Given the description of an element on the screen output the (x, y) to click on. 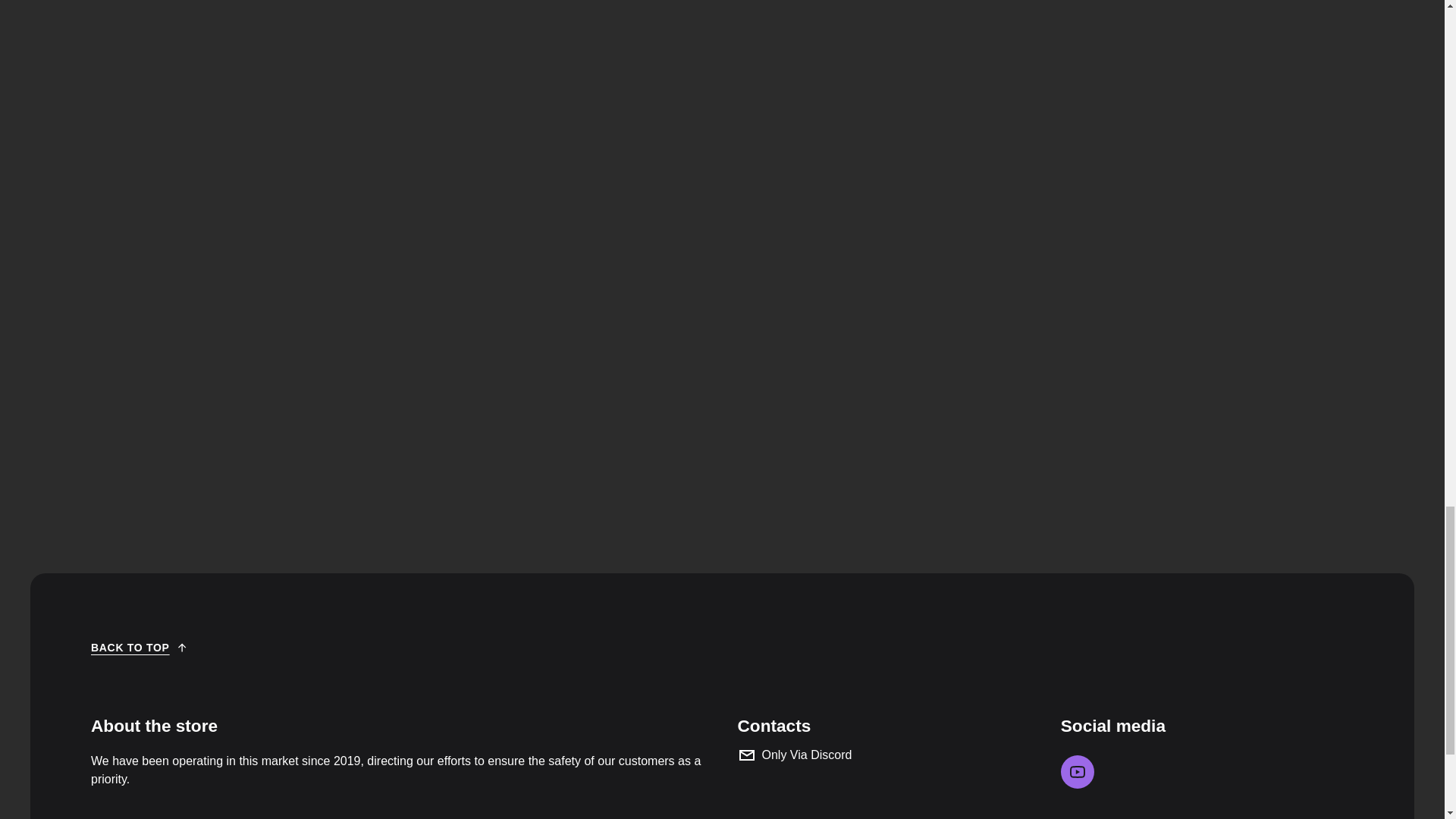
Only Via Discord (882, 755)
BACK TO TOP (138, 646)
Youtube (1077, 771)
